Given the description of an element on the screen output the (x, y) to click on. 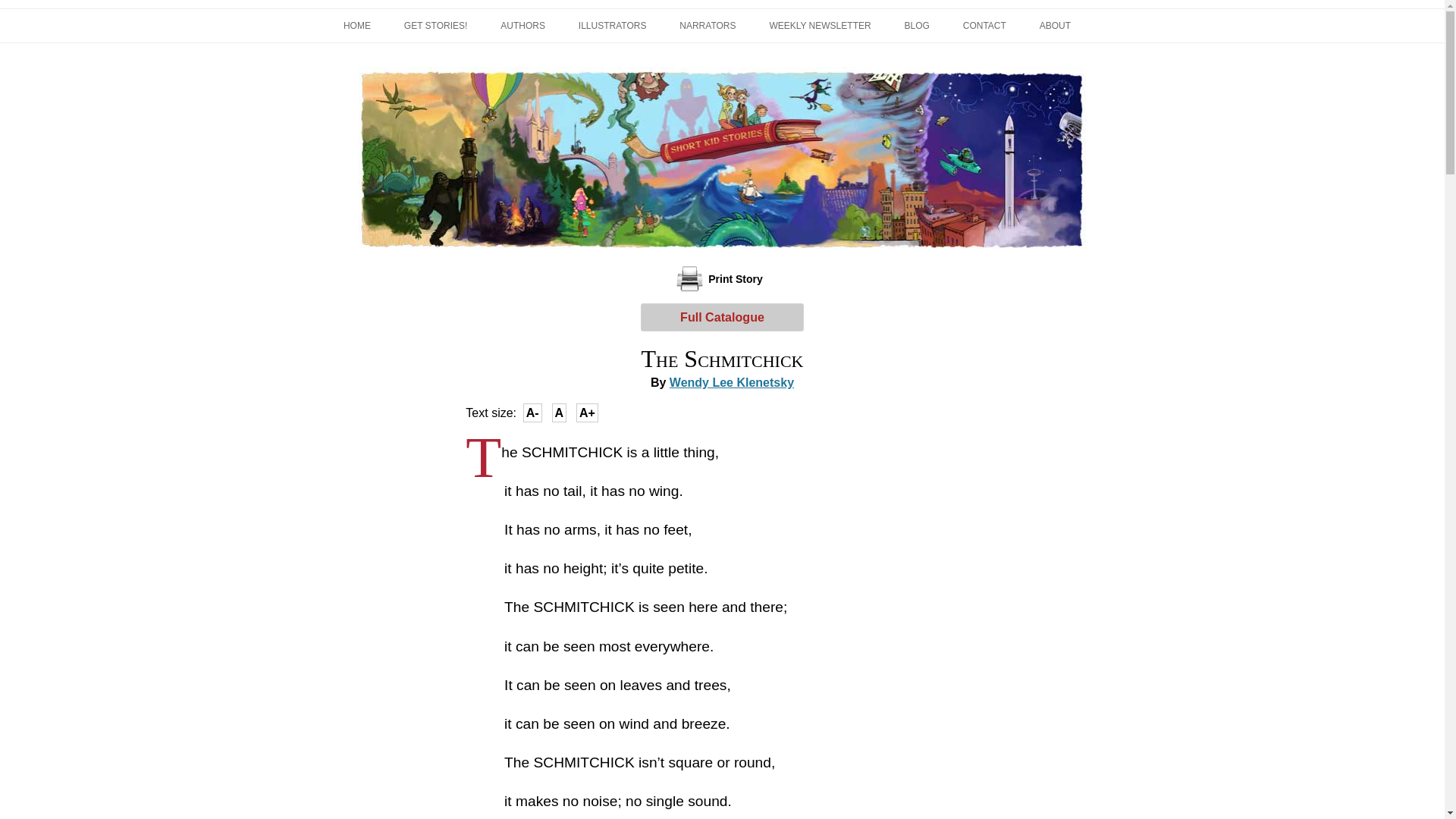
CONTACT (984, 25)
Full Catalogue (721, 317)
WEEKLY NEWSLETTER (819, 25)
A- (531, 412)
Wendy Lee Klenetsky (731, 382)
GET STORIES! (435, 25)
Click to go directly to stories for kids (435, 25)
Click to increase text size (587, 412)
Print Story (722, 278)
ILLUSTRATORS (612, 25)
